Given the description of an element on the screen output the (x, y) to click on. 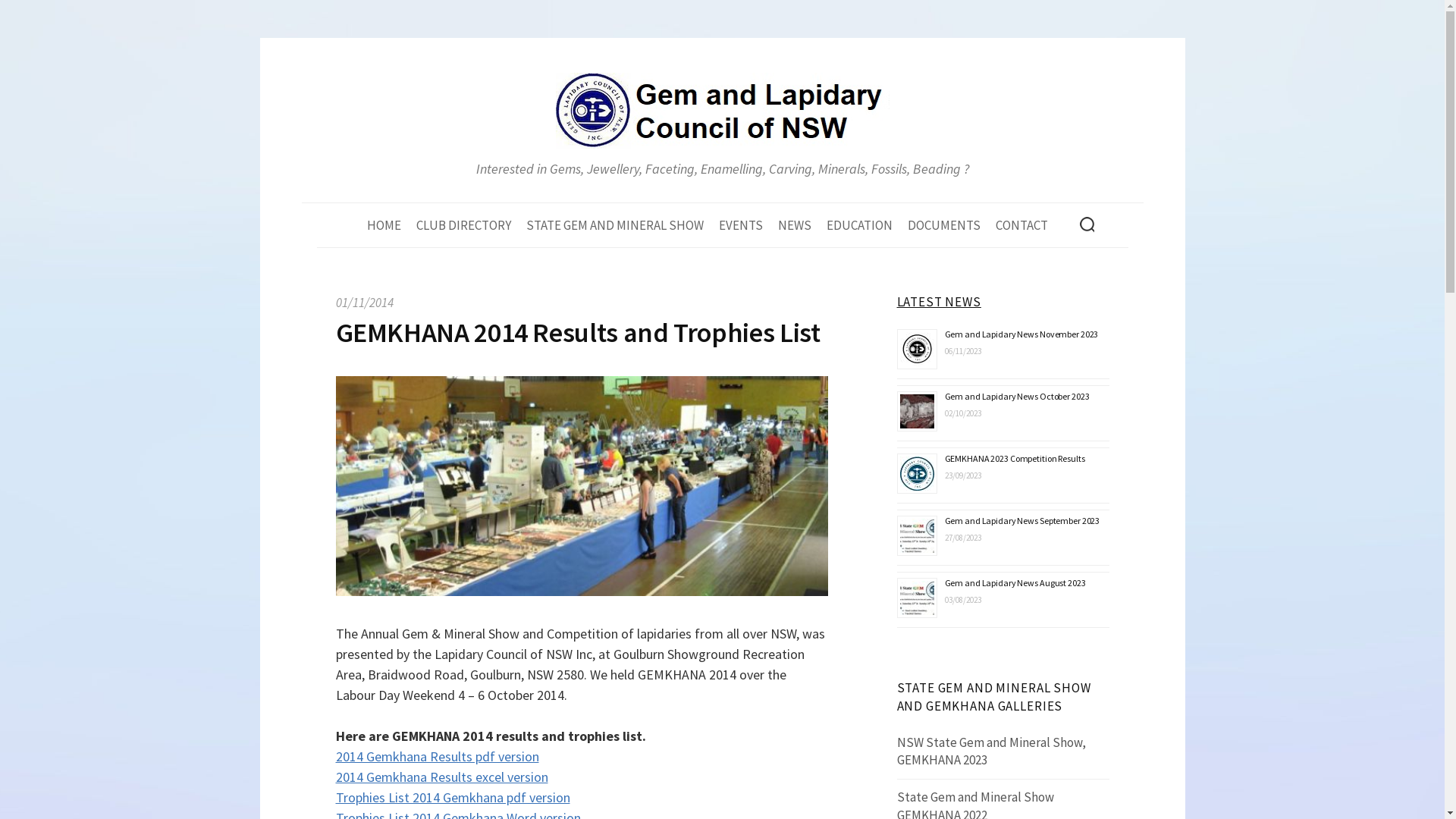
Gem and Lapidary News September 2023 Element type: text (1022, 520)
Gem and Lapidary News November 2023 Element type: text (1021, 333)
NEWS Element type: text (794, 225)
GEMKHANA 2023 Competition Results Element type: text (1014, 458)
CLUB DIRECTORY Element type: text (462, 225)
DOCUMENTS Element type: text (943, 225)
Gem and Lapidary News October 2023 Element type: text (1016, 395)
EVENTS Element type: text (740, 225)
2014 Gemkhana Results pdf version Element type: text (436, 756)
STATE GEM AND MINERAL SHOW Element type: text (614, 225)
CONTACT Element type: text (1020, 225)
NSW State Gem and Mineral Show, GEMKHANA 2023 Element type: text (991, 751)
Gem and Lapidary News August 2023 Element type: text (1014, 582)
HOME Element type: text (387, 225)
01/11/2014 Element type: text (363, 302)
Search Element type: text (18, 18)
LATEST NEWS Element type: text (939, 301)
2014 Gemkhana Results excel version Element type: text (441, 776)
Trophies List 2014 Gemkhana pdf version Element type: text (452, 797)
EDUCATION Element type: text (859, 225)
Search Element type: text (37, 18)
Skip to content Element type: text (274, 37)
